Given the description of an element on the screen output the (x, y) to click on. 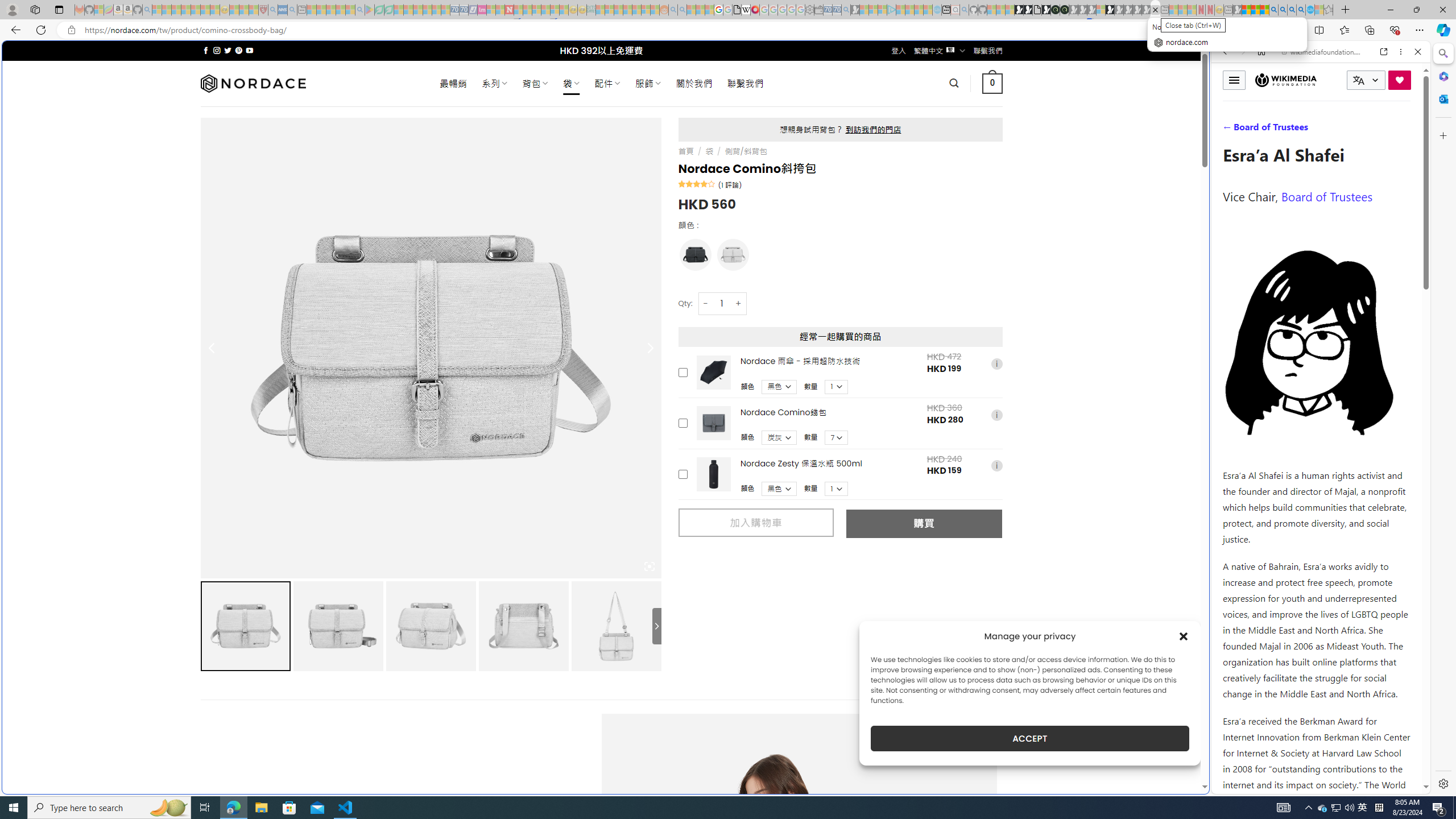
Sign in to your account - Sleeping (1100, 9)
DITOGAMES AG Imprint - Sleeping (590, 9)
Browser essentials (1394, 29)
Open link in new tab (1383, 51)
World - MSN (727, 389)
CURRENT LANGUAGE: (1366, 80)
